Given the description of an element on the screen output the (x, y) to click on. 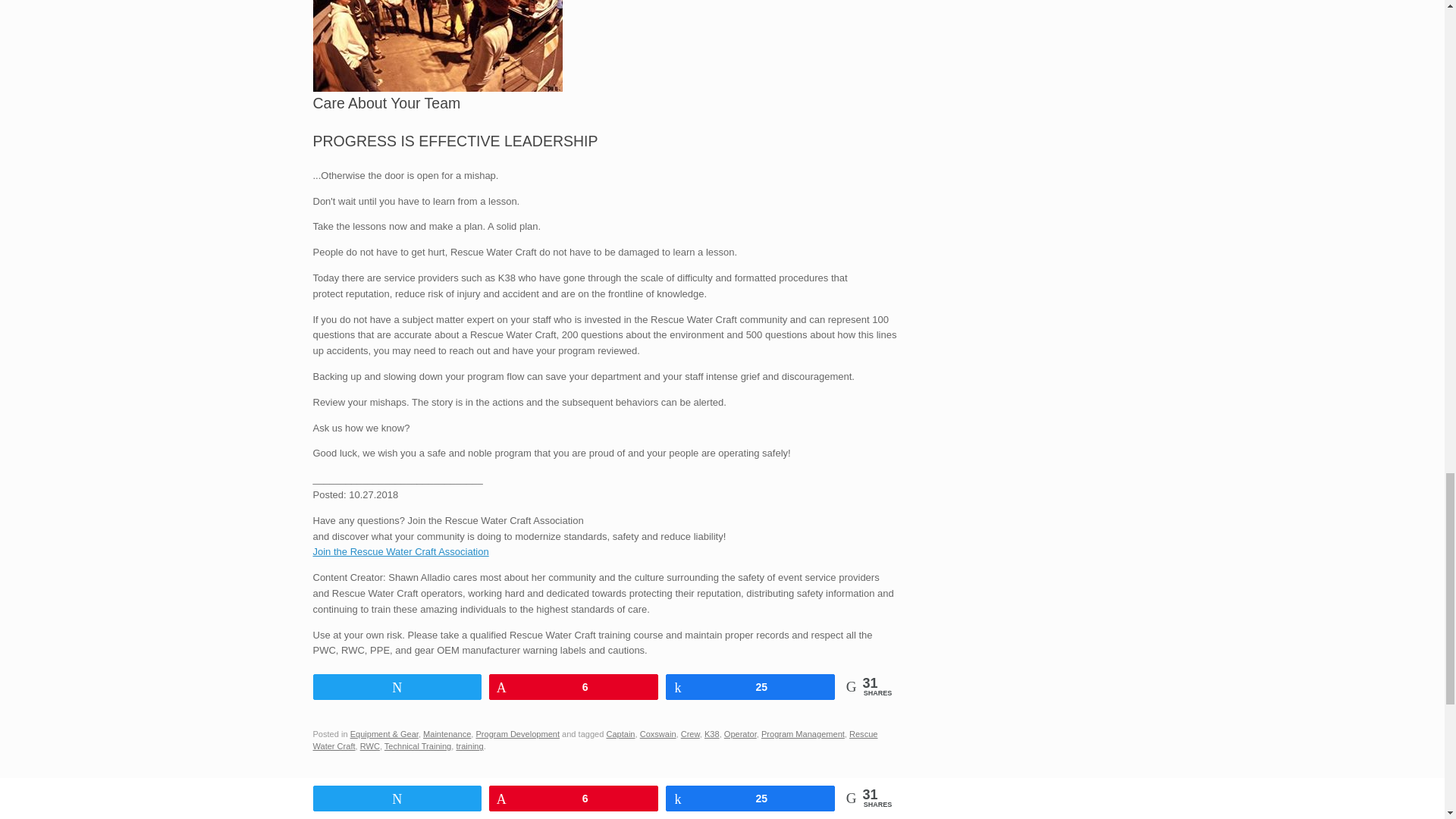
Care About Your Team (437, 45)
